Given the description of an element on the screen output the (x, y) to click on. 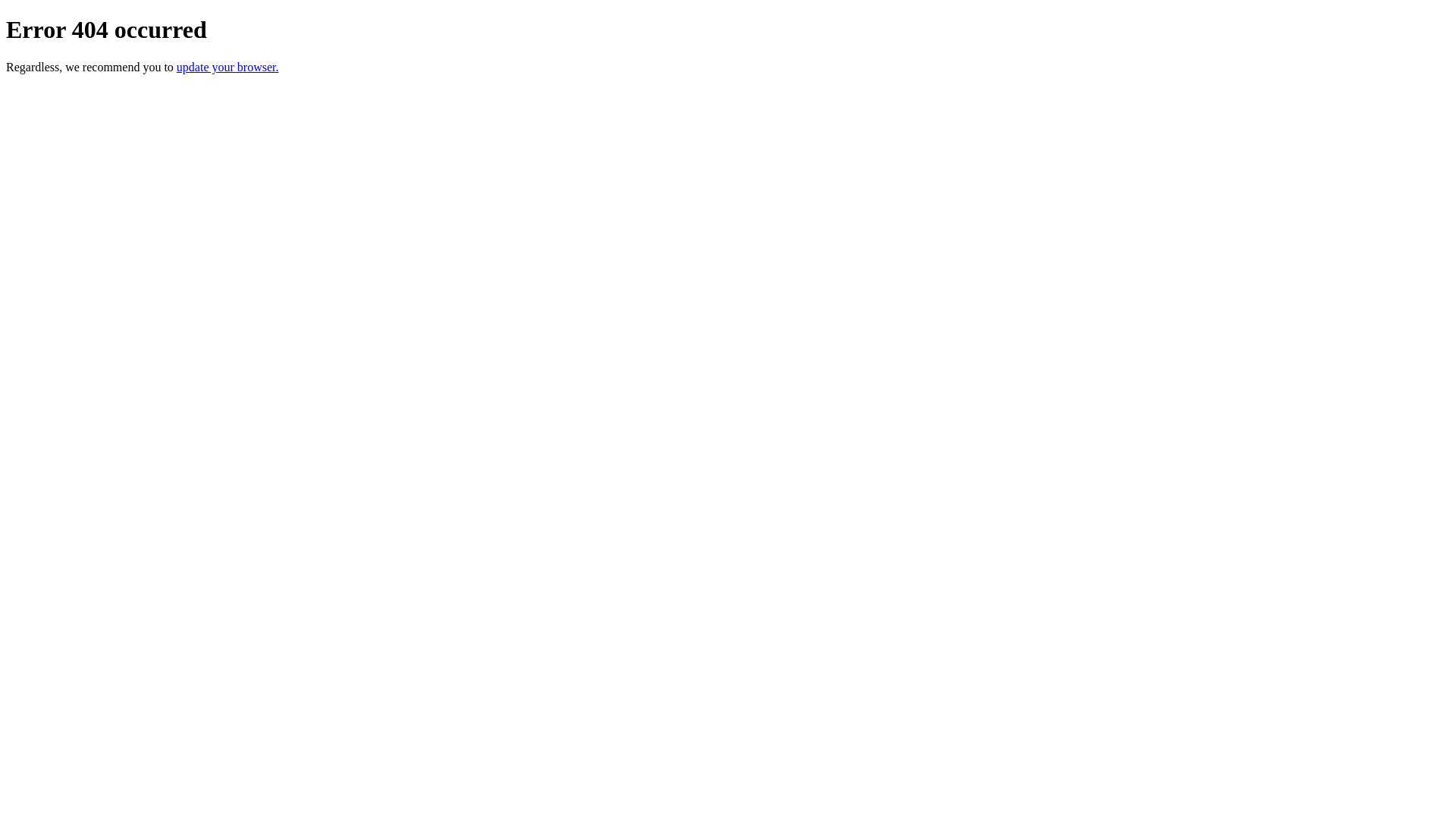
update your browser. Element type: text (227, 66)
